Given the description of an element on the screen output the (x, y) to click on. 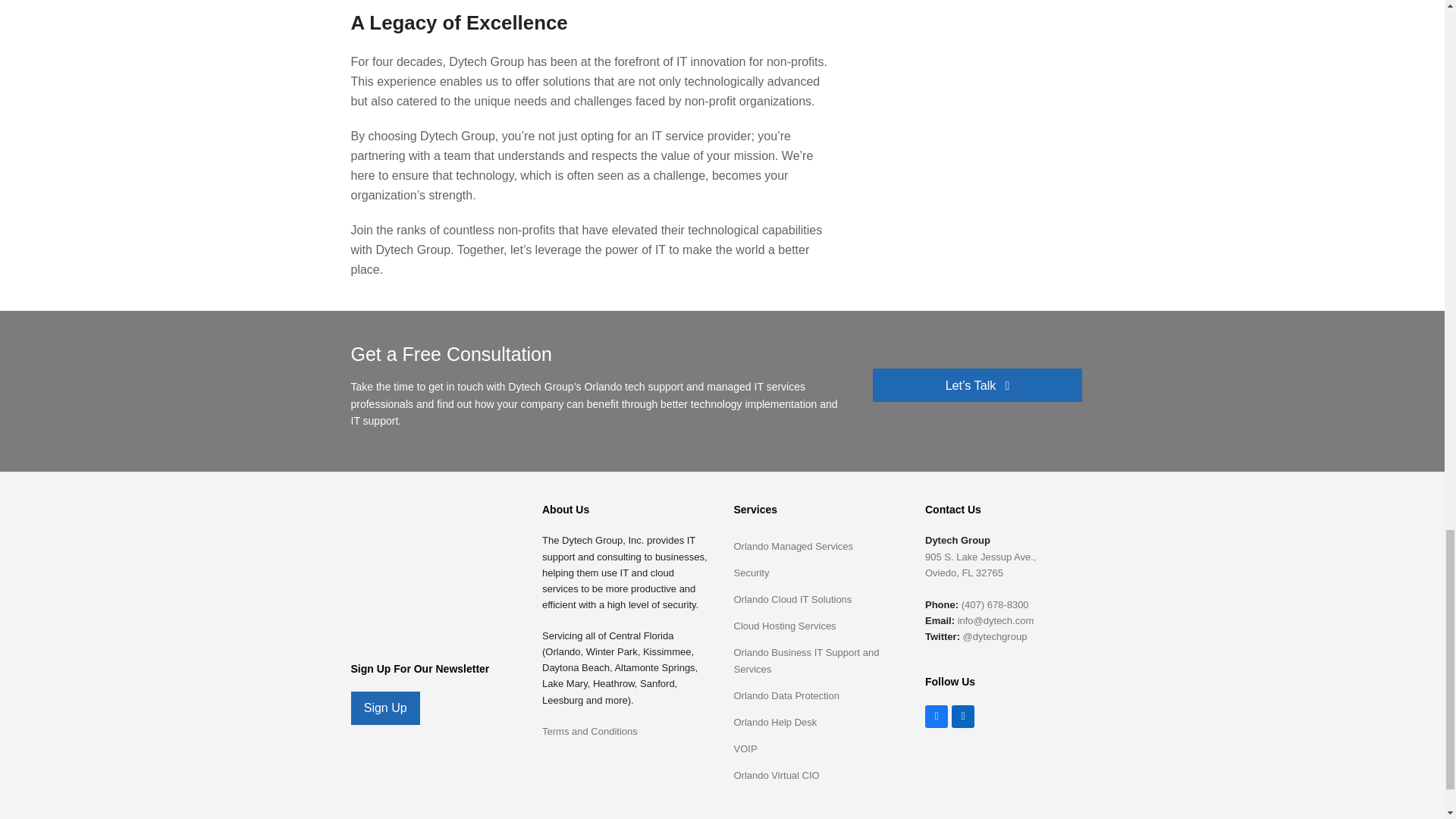
Sign Up (384, 707)
Facebook (935, 716)
LinkedIn (963, 716)
